Given the description of an element on the screen output the (x, y) to click on. 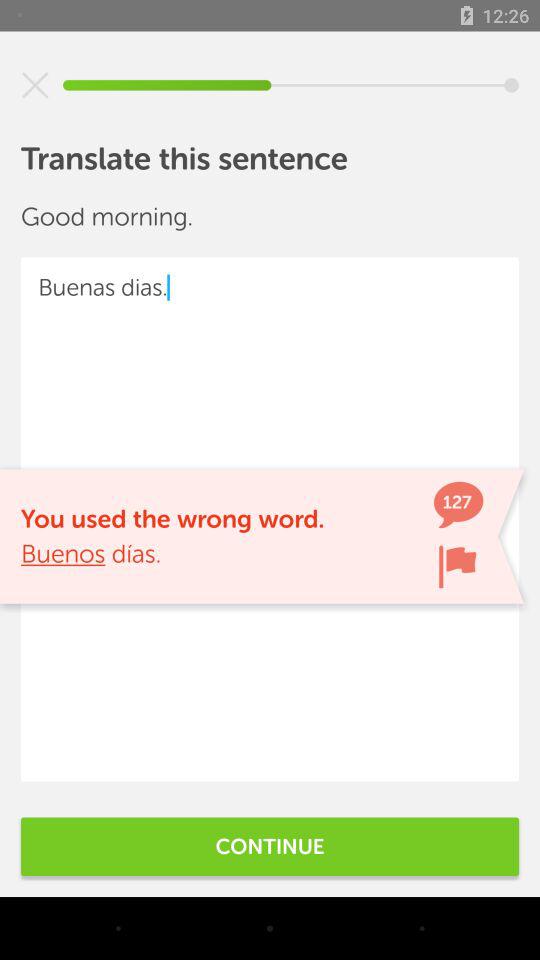
turn off buenas dias. at the center (270, 519)
